Given the description of an element on the screen output the (x, y) to click on. 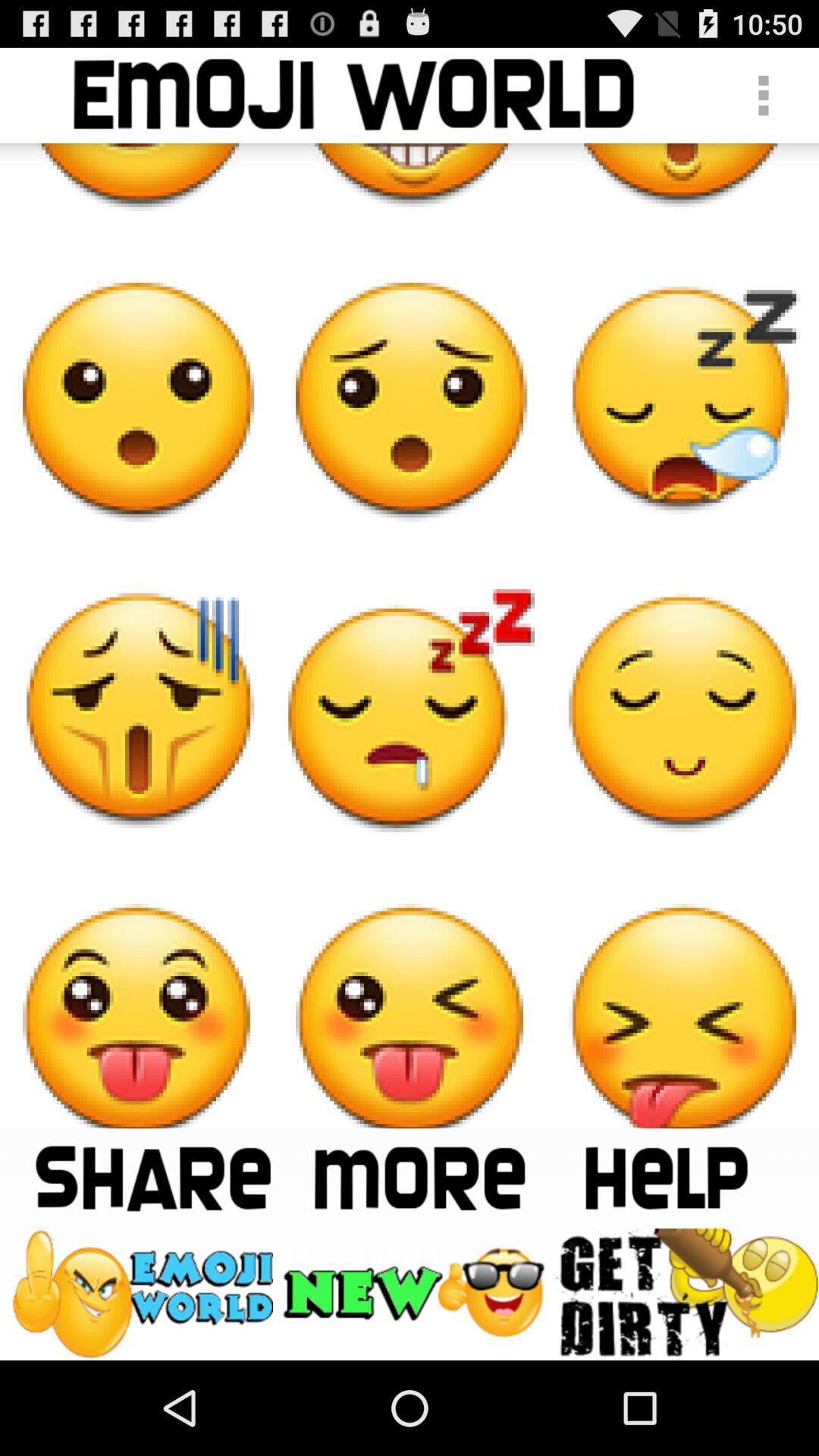
insert get dirty beer drinking emoji (687, 1293)
